Given the description of an element on the screen output the (x, y) to click on. 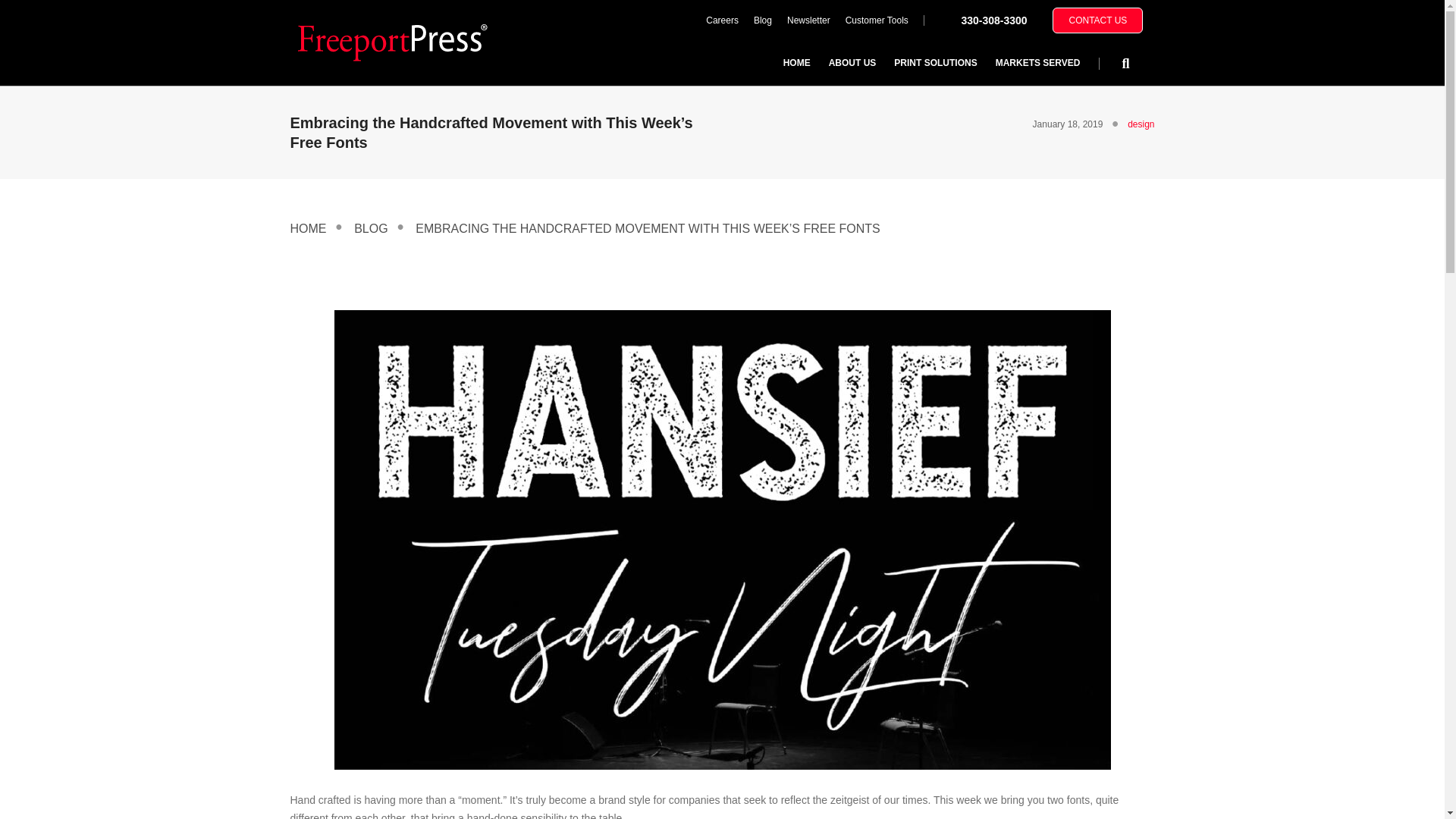
PRINT SOLUTIONS (935, 62)
ABOUT US (852, 62)
HOME (796, 62)
CONTACT US (1097, 20)
330-308-3300 (993, 20)
Newsletter (808, 20)
Blog (761, 20)
MARKETS SERVED (1038, 62)
Customer Tools (876, 20)
Careers (721, 20)
